Given the description of an element on the screen output the (x, y) to click on. 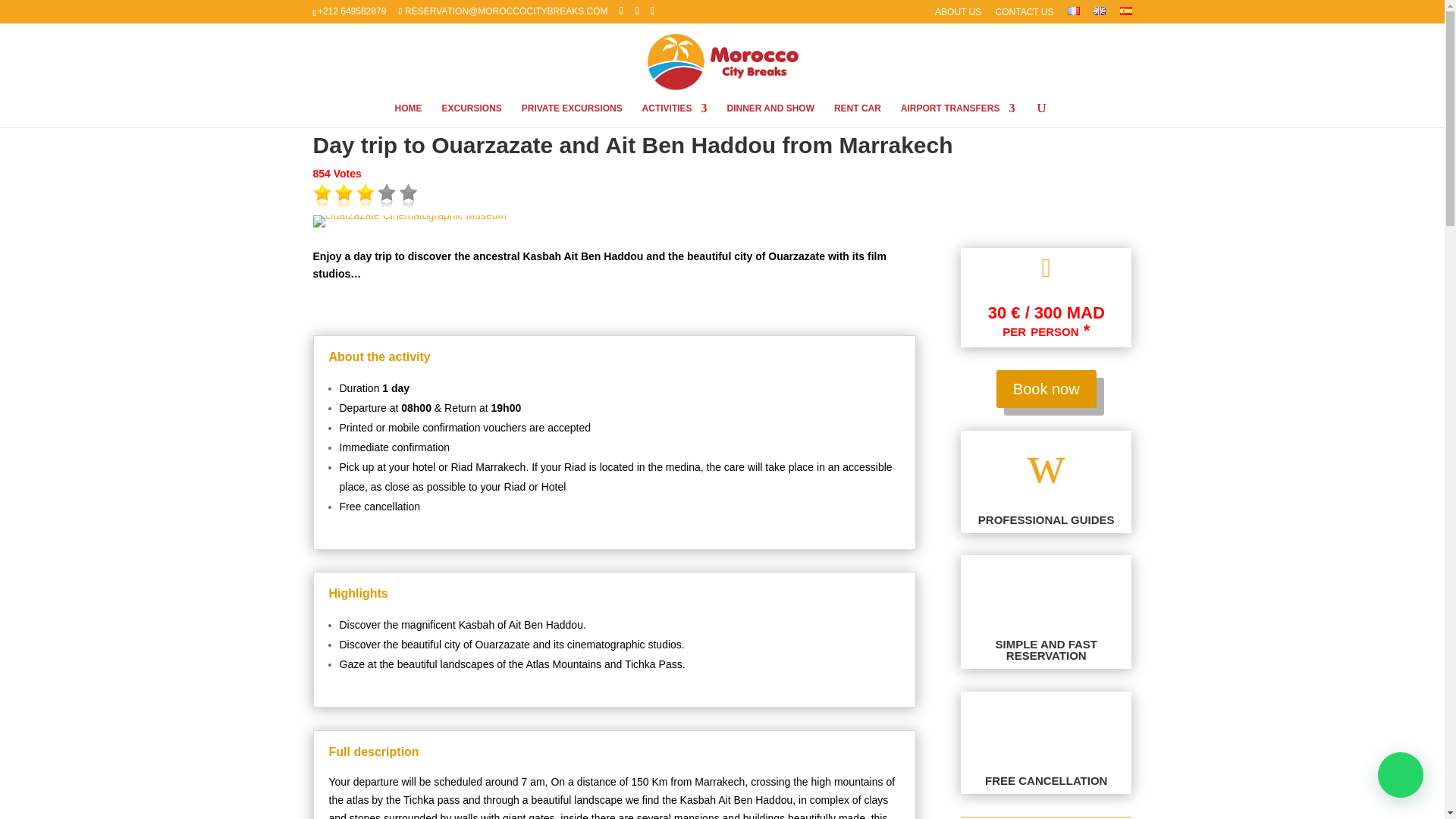
AIRPORT TRANSFERS (957, 115)
EXCURSIONS (470, 115)
ACTIVITIES (674, 115)
CONTACT US (1024, 15)
HOME (408, 115)
Ouarzazate Cinematographic Museum (409, 215)
DINNER AND SHOW (769, 115)
RENT CAR (857, 115)
PRIVATE EXCURSIONS (572, 115)
ABOUT US (957, 15)
